Given the description of an element on the screen output the (x, y) to click on. 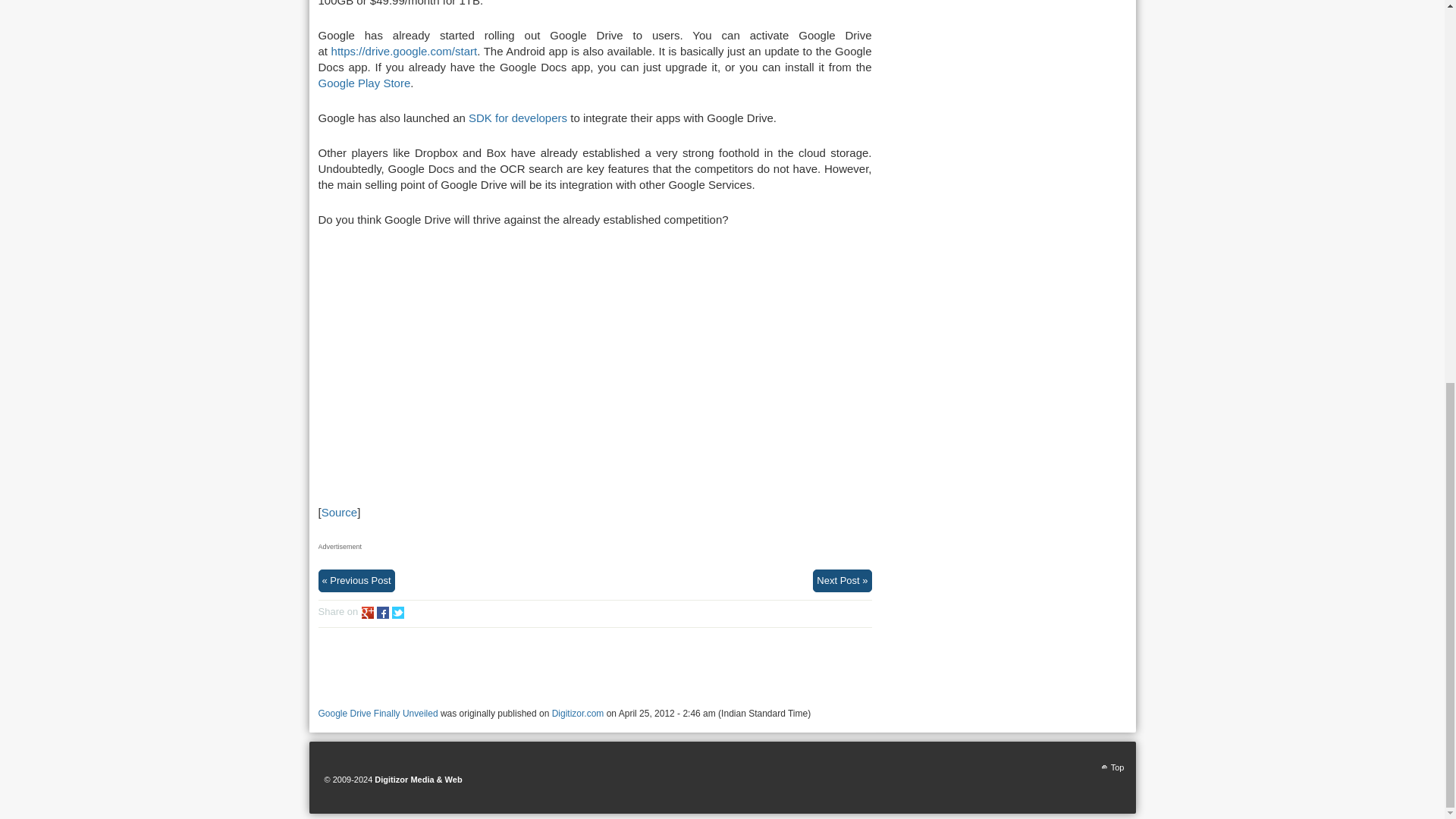
share on fb (382, 612)
Source (339, 512)
share this post on Facebook (382, 612)
share on tw (397, 612)
Digitizor.com (577, 713)
share this post on Twitter (397, 612)
SDK for developers (517, 117)
Top (1111, 766)
Google Drive Finally Unveiled (378, 713)
Google Play Store (364, 82)
